Given the description of an element on the screen output the (x, y) to click on. 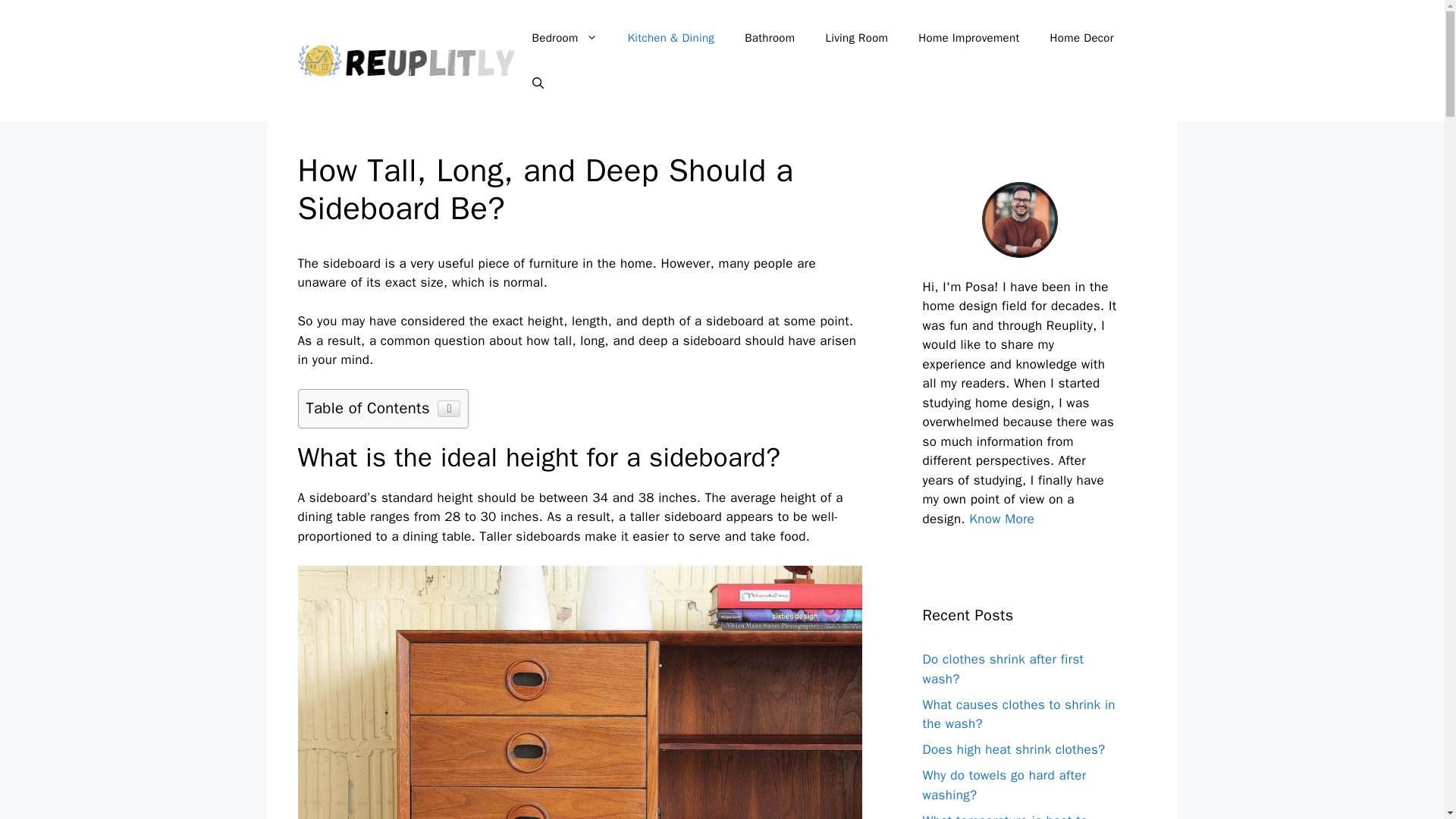
Do clothes shrink after first wash? (1002, 669)
Home Decor (1082, 37)
Bedroom (564, 37)
Bathroom (769, 37)
Reuplitly (406, 59)
Reuplitly (406, 60)
Home Improvement (967, 37)
Know More (1001, 519)
Living Room (855, 37)
What causes clothes to shrink in the wash? (1018, 714)
